Given the description of an element on the screen output the (x, y) to click on. 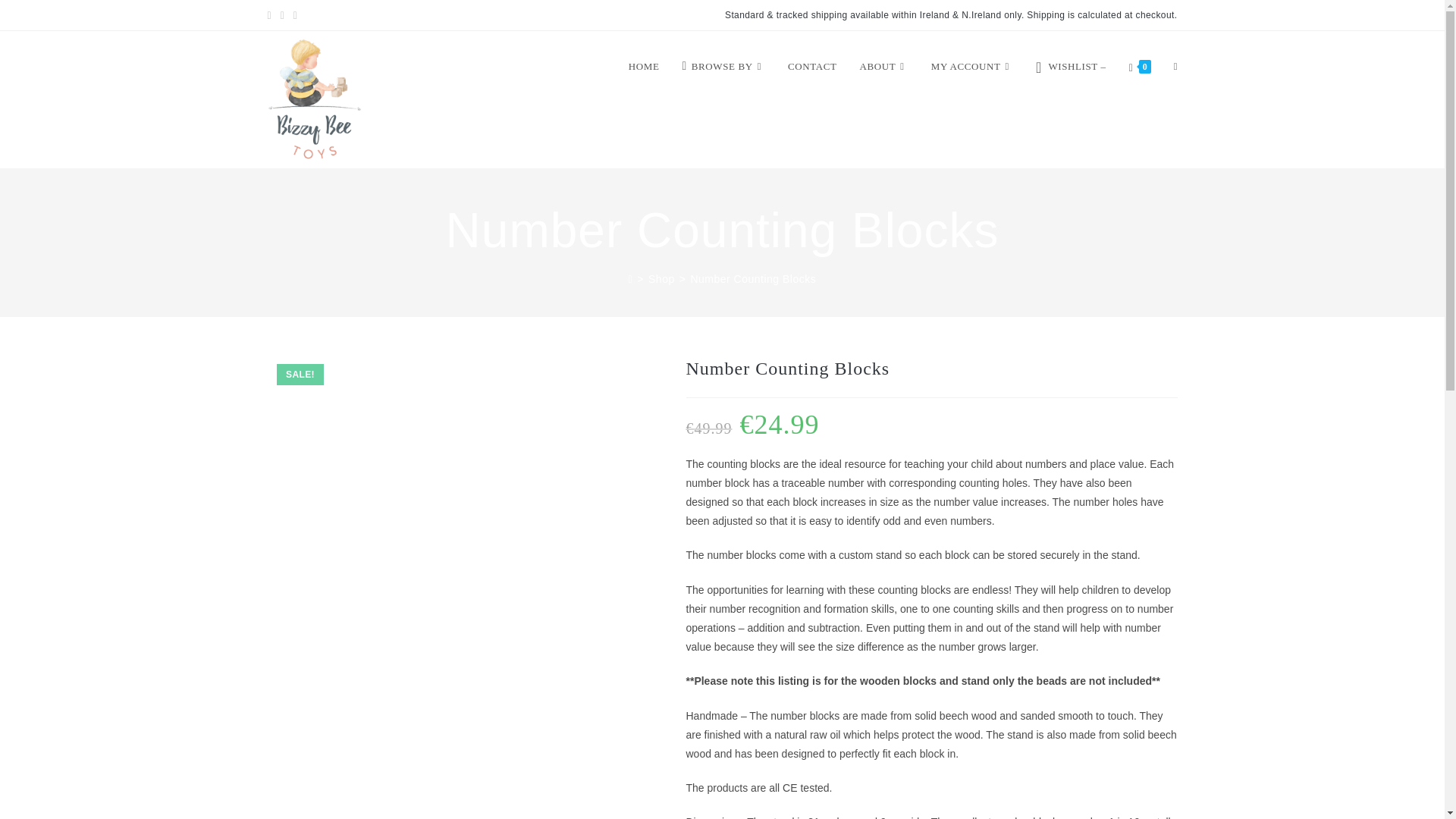
BROWSE BY (722, 66)
CONTACT (812, 66)
ABOUT (884, 66)
HOME (644, 66)
